Given the description of an element on the screen output the (x, y) to click on. 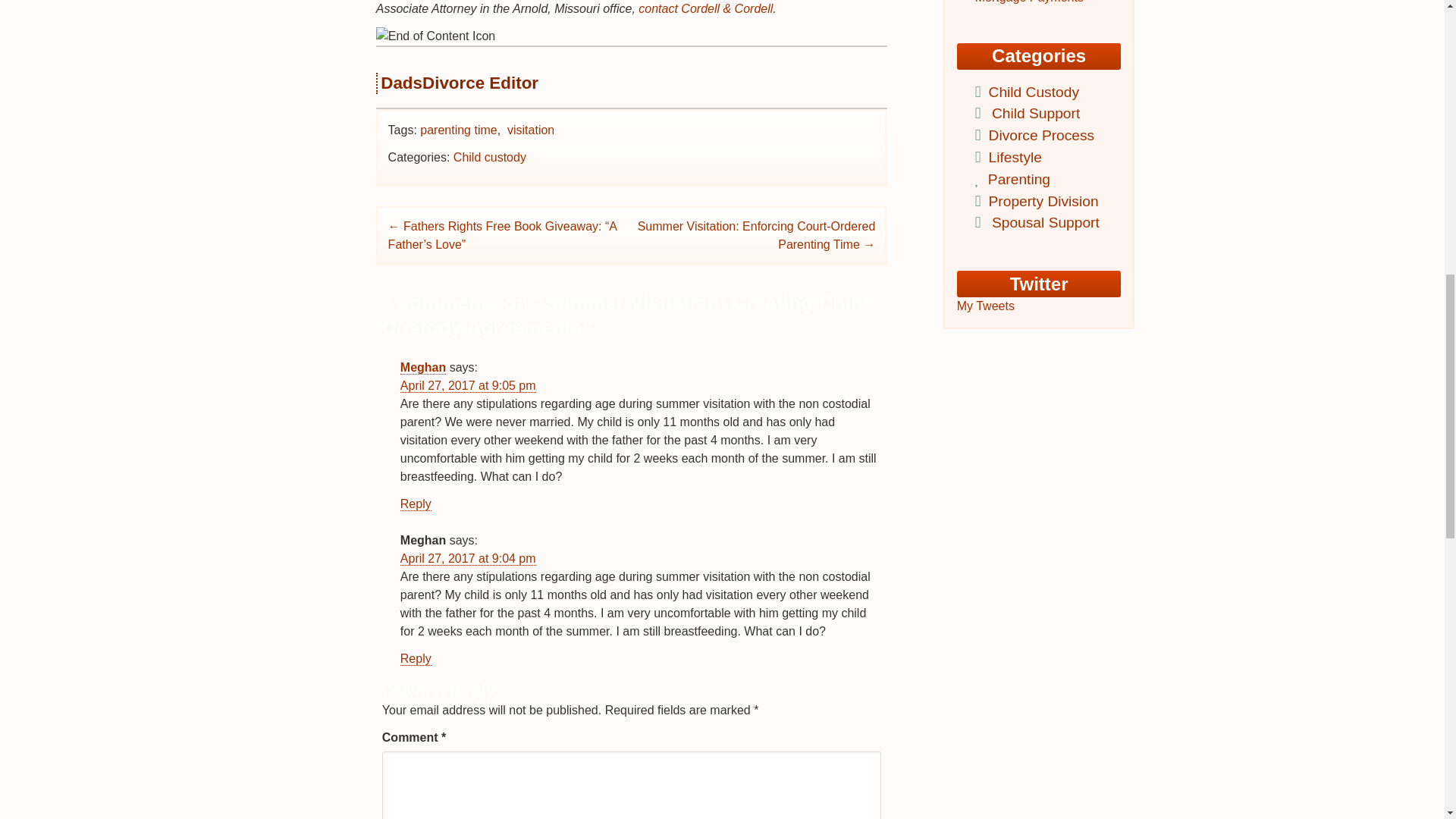
Meghan (422, 367)
All posts by DadsDivorce Editor (459, 82)
Reply (415, 504)
April 27, 2017 at 9:04 pm (467, 558)
Reply (415, 658)
visitation (530, 129)
April 27, 2017 at 9:05 pm (467, 386)
parenting time (458, 129)
DadsDivorce Editor (459, 82)
Child custody (488, 156)
